Given the description of an element on the screen output the (x, y) to click on. 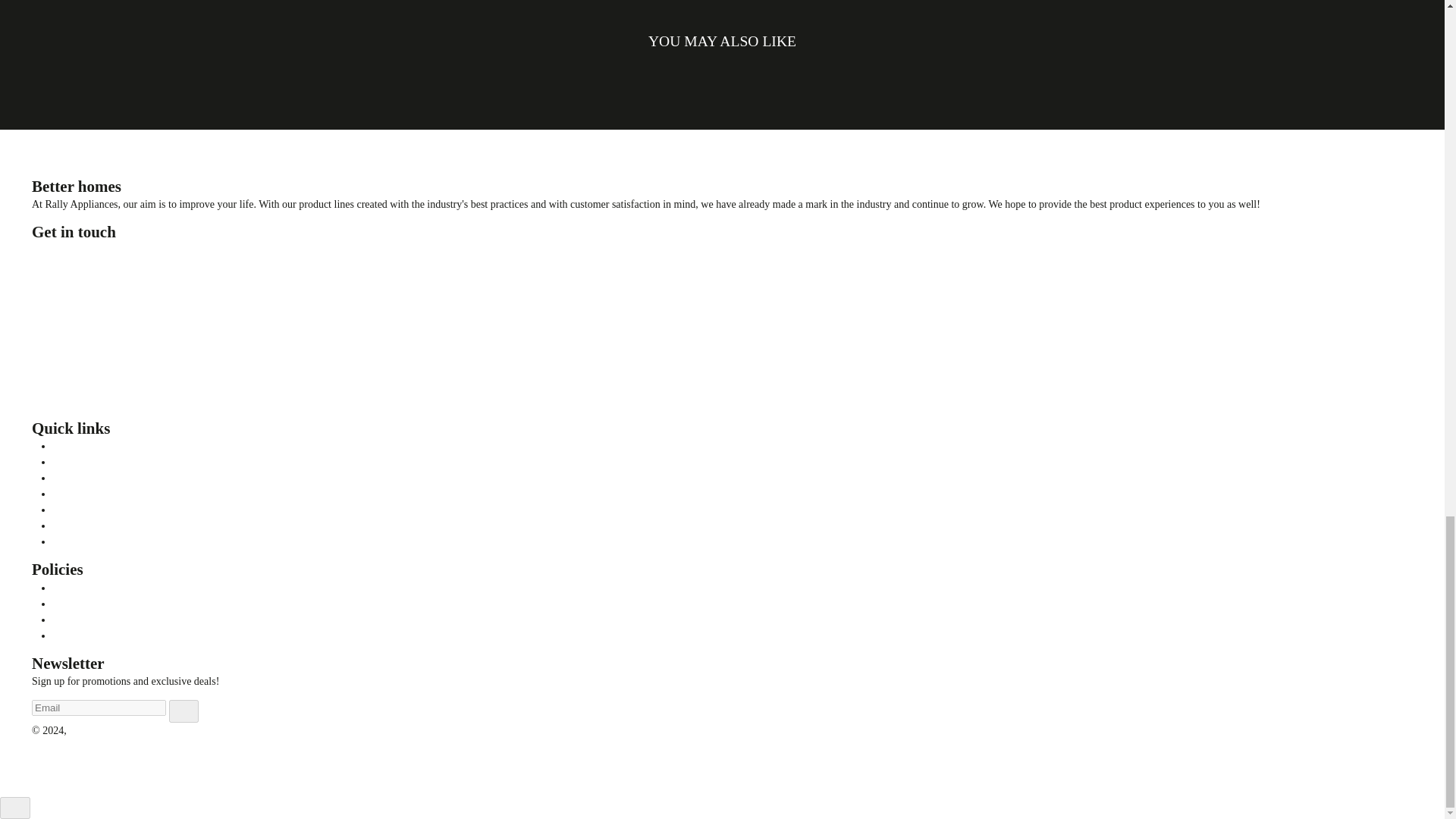
Blogs (65, 446)
Refund Policy (83, 603)
Instagram (62, 408)
Privacy Policy (83, 587)
Contact Us (76, 478)
YouTube (82, 408)
Manufacturers' Hub (95, 461)
Refund policy (82, 541)
Subscribe (183, 711)
Service: 080 6197 7979 (82, 302)
